Given the description of an element on the screen output the (x, y) to click on. 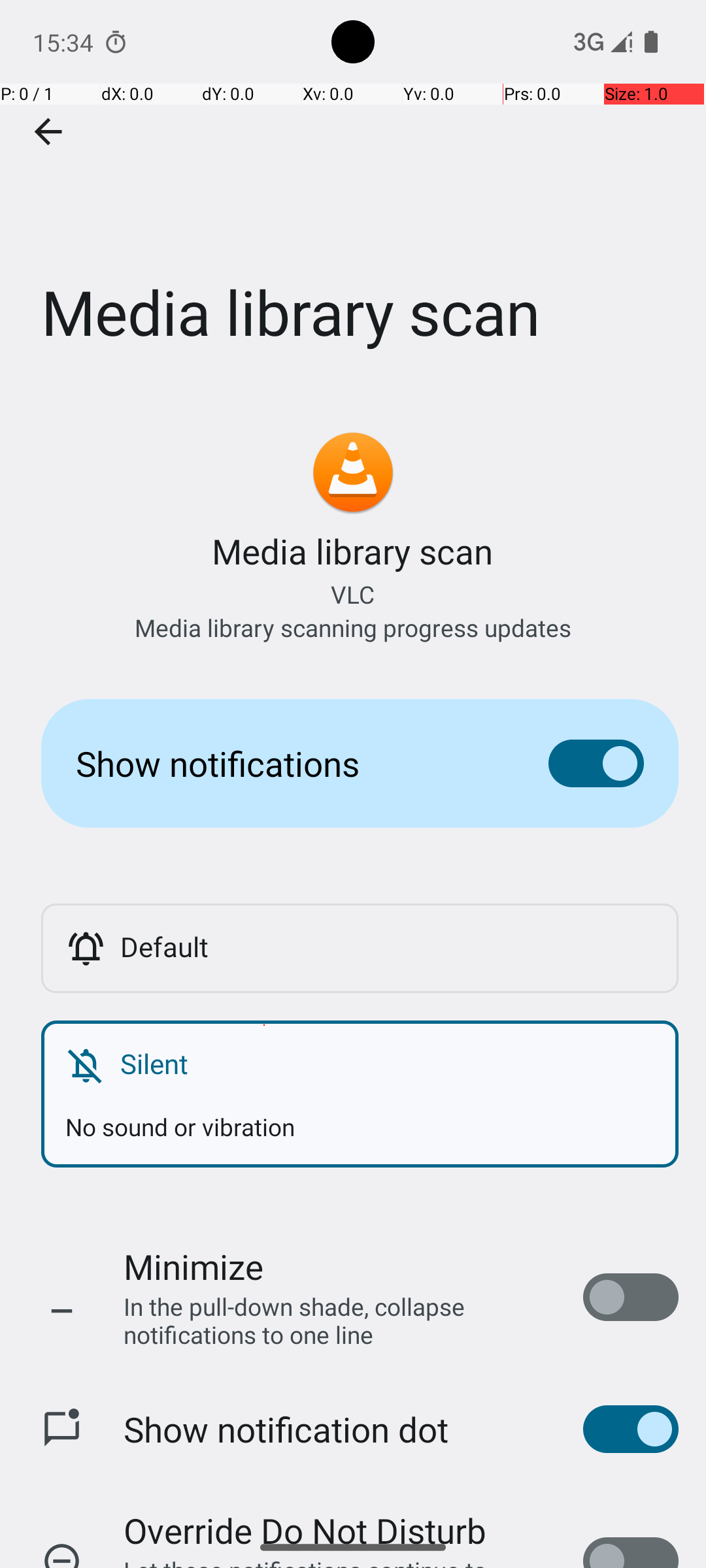
Media library scan Element type: android.widget.FrameLayout (353, 195)
Media library scanning progress updates Element type: android.widget.TextView (352, 627)
Show notifications Element type: android.widget.TextView (291, 763)
Minimize Element type: android.widget.TextView (193, 1266)
In the pull-down shade, collapse notifications to one line Element type: android.widget.TextView (339, 1320)
Show notification dot Element type: android.widget.TextView (285, 1428)
Override Do Not Disturb Element type: android.widget.TextView (304, 1516)
No sound or vibration Element type: android.widget.TextView (359, 1114)
